Given the description of an element on the screen output the (x, y) to click on. 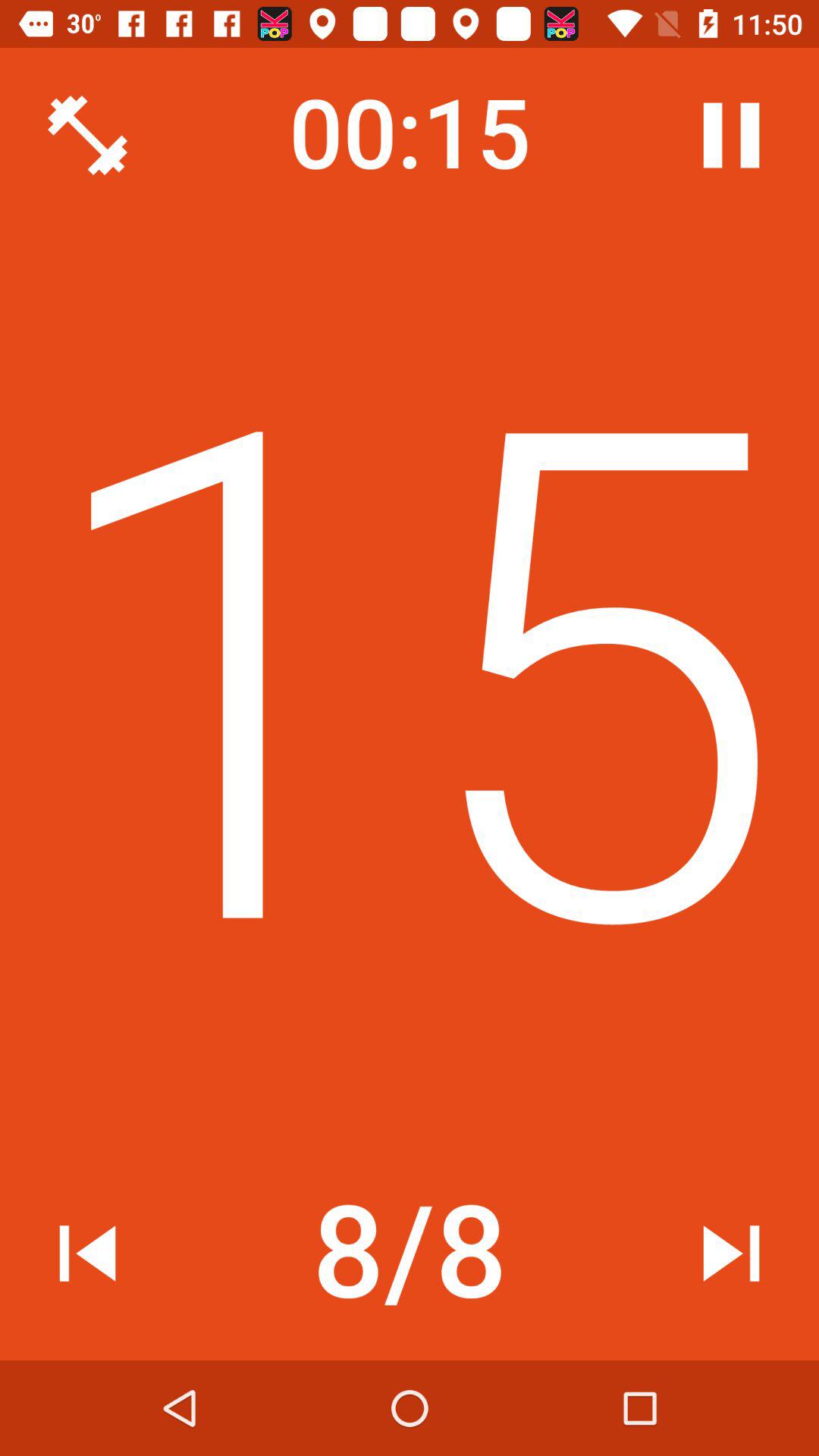
tap the 8/8 icon (409, 1253)
